Given the description of an element on the screen output the (x, y) to click on. 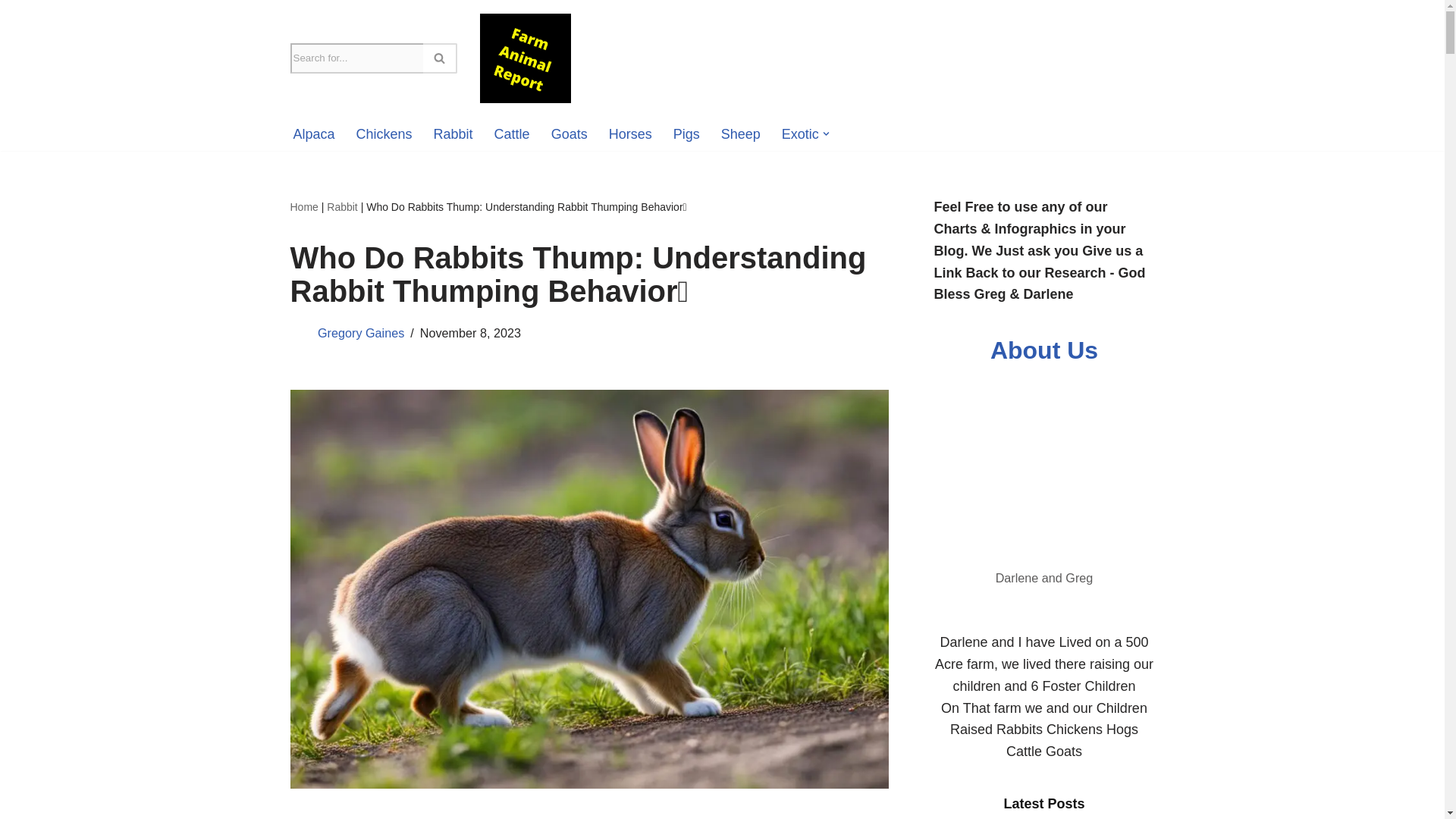
Alpaca (313, 133)
Pigs (686, 133)
Goats (569, 133)
Chickens (384, 133)
Skip to content (11, 31)
Posts by Gregory Gaines (360, 332)
Sheep (740, 133)
Rabbit (453, 133)
Cattle (512, 133)
Horses (630, 133)
